Given the description of an element on the screen output the (x, y) to click on. 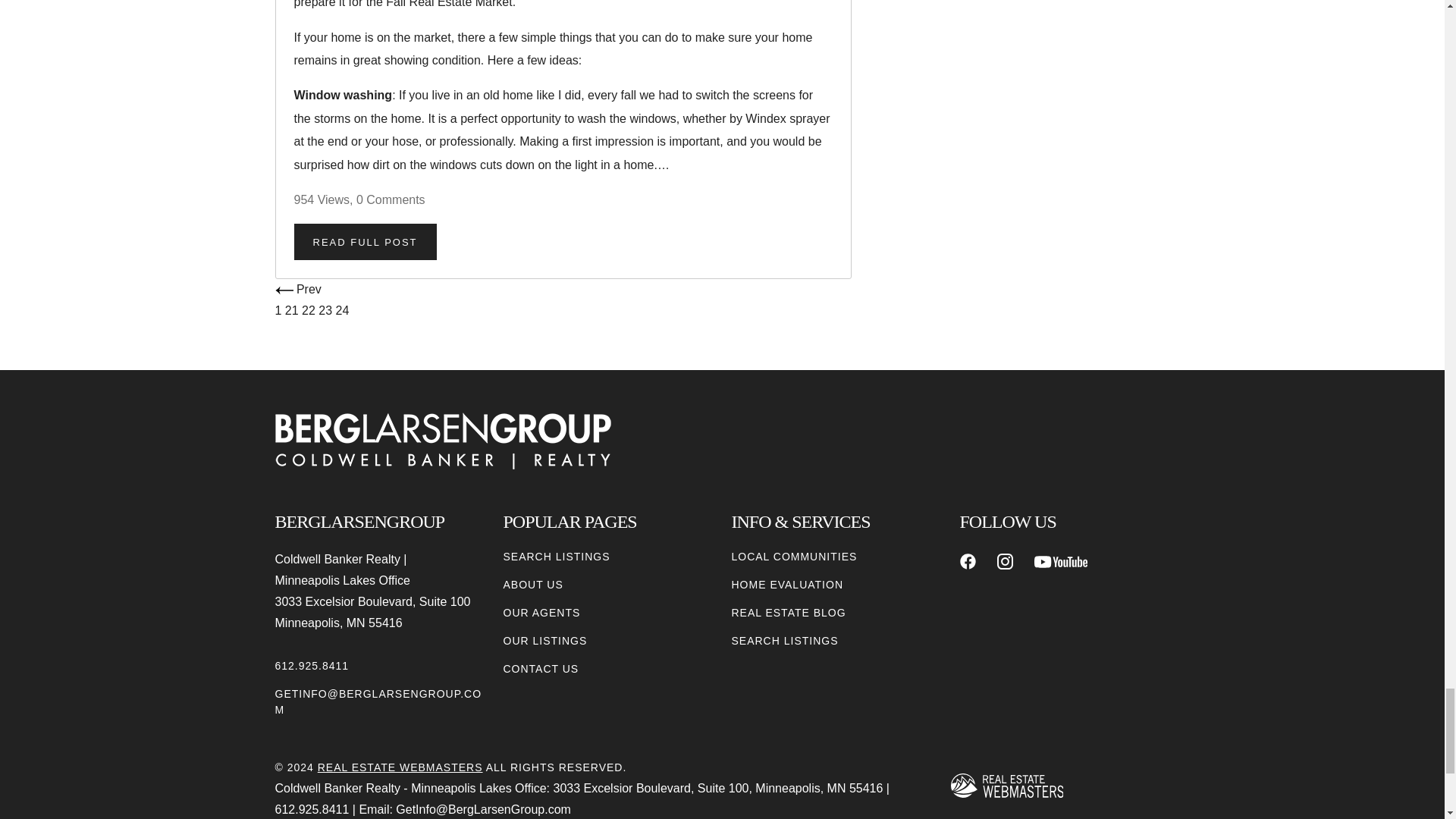
Current Page is 23 (326, 309)
Current Page is 21 (293, 309)
Previous Page (297, 288)
Current Page is 24 (342, 309)
Current Page is 22 (309, 309)
